Given the description of an element on the screen output the (x, y) to click on. 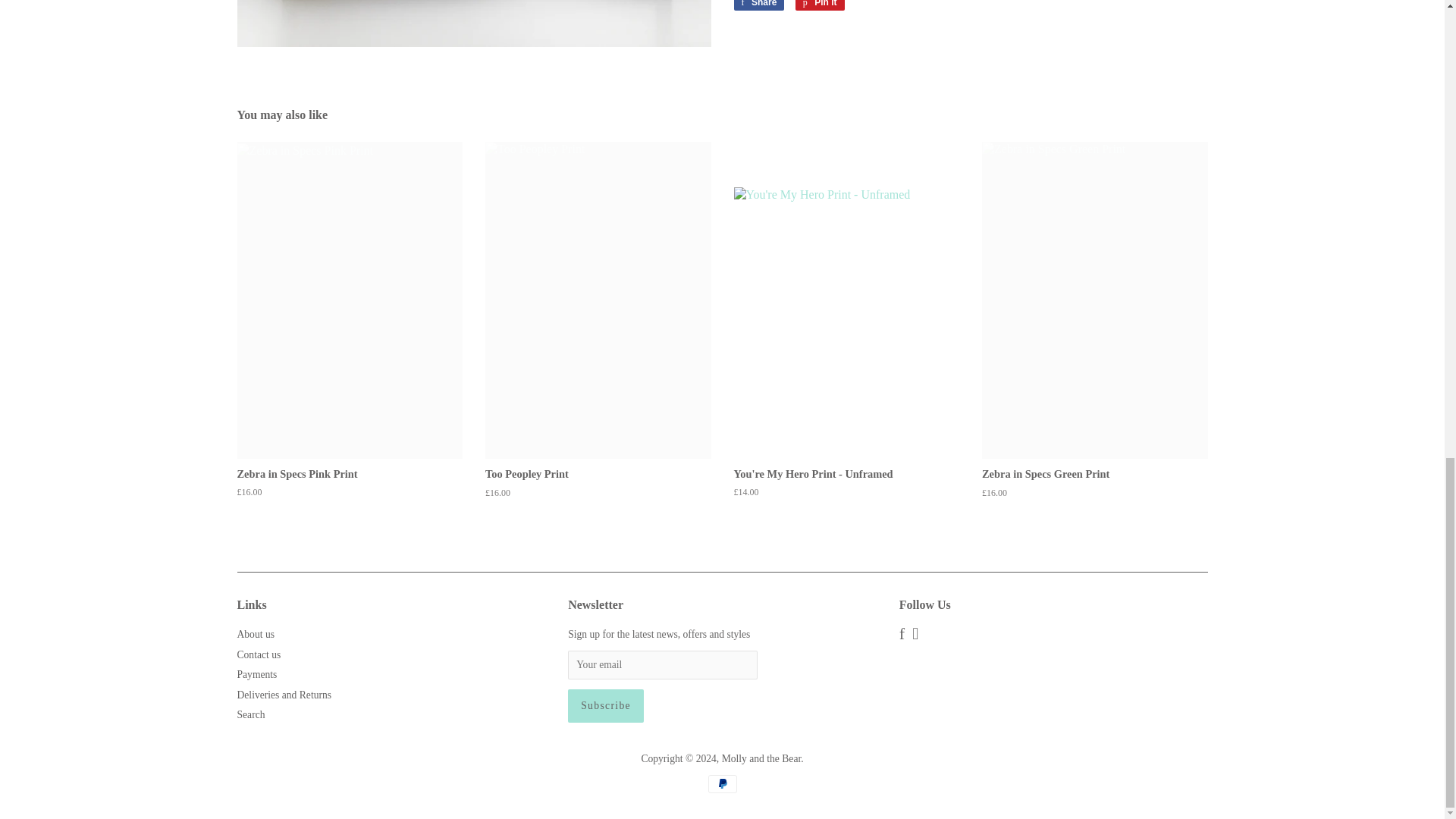
PayPal (721, 783)
Subscribe (605, 705)
Share on Facebook (758, 5)
Pin on Pinterest (819, 5)
